Given the description of an element on the screen output the (x, y) to click on. 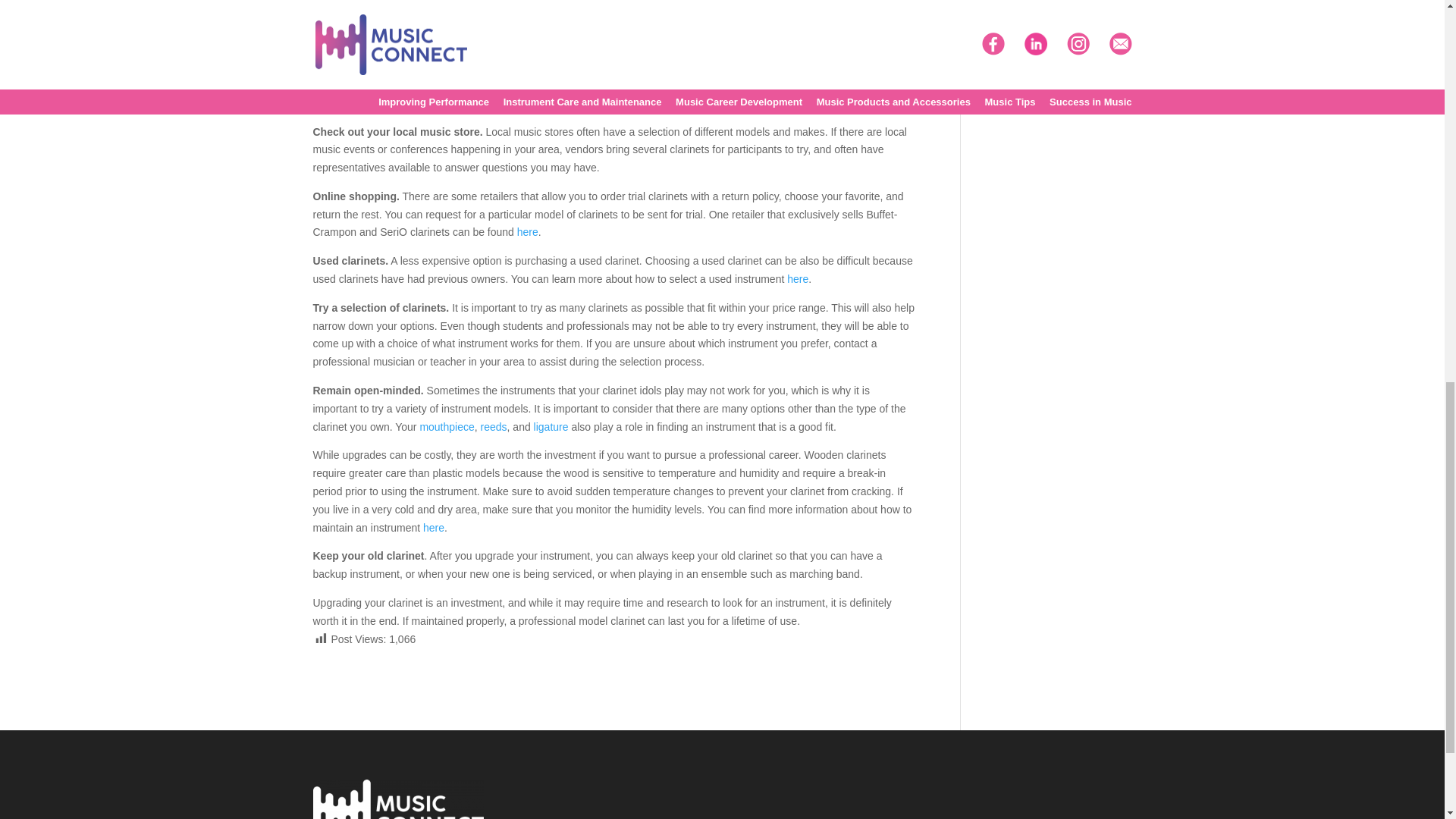
ligature (551, 426)
reeds (493, 426)
mouthpiece (446, 426)
here (433, 527)
here (797, 278)
here (527, 232)
SeriO (882, 84)
